Given the description of an element on the screen output the (x, y) to click on. 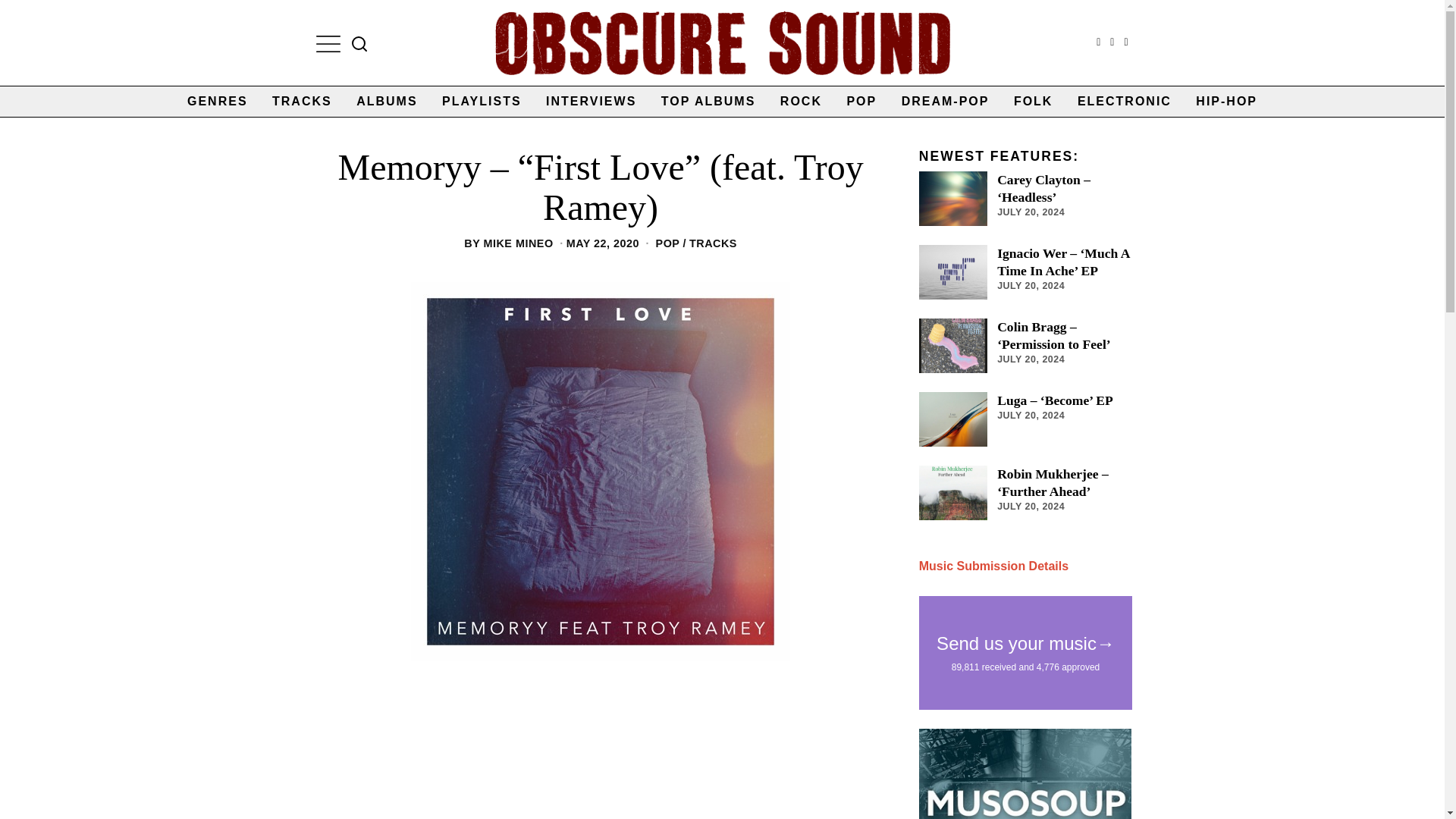
TRACKS (302, 101)
FOLK (1033, 101)
GENRES (217, 101)
MIKE MINEO (518, 243)
ALBUMS (387, 101)
DREAM-POP (945, 101)
TOP ALBUMS (708, 101)
INTERVIEWS (590, 101)
POP (667, 243)
Send music (993, 565)
POP (860, 101)
TRACKS (712, 243)
ELECTRONIC (1124, 101)
HIP-HOP (1226, 101)
PLAYLISTS (481, 101)
